Given the description of an element on the screen output the (x, y) to click on. 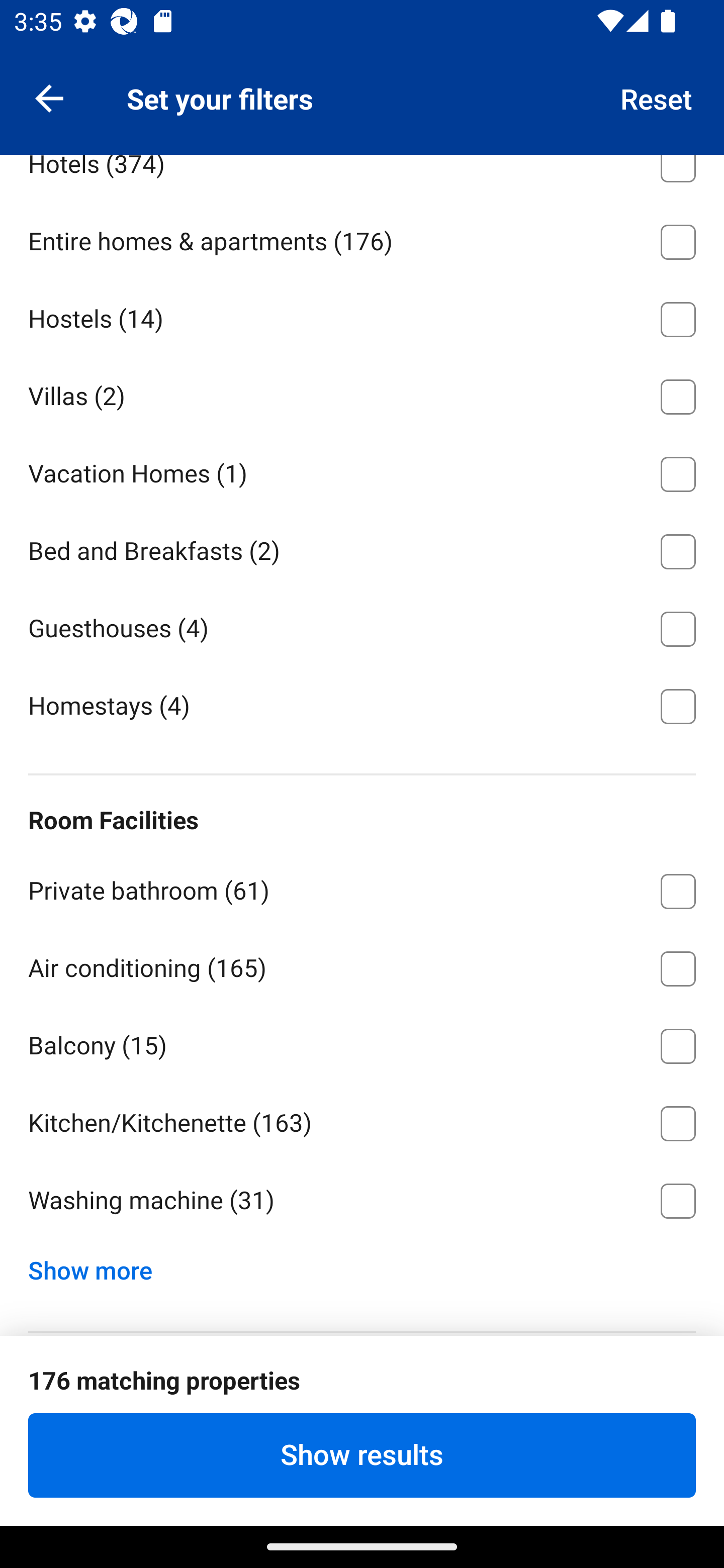
Apartments ⁦(175) (361, 83)
Navigate up (49, 97)
Reset (656, 97)
Hotels ⁦(374) (361, 177)
Entire homes & apartments ⁦(176) (361, 238)
Hostels ⁦(14) (361, 315)
Villas ⁦(2) (361, 393)
Vacation Homes ⁦(1) (361, 470)
Bed and Breakfasts ⁦(2) (361, 547)
Guesthouses ⁦(4) (361, 625)
Homestays ⁦(4) (361, 704)
Private bathroom ⁦(61) (361, 887)
Air conditioning ⁦(165) (361, 964)
Balcony ⁦(15) (361, 1042)
Kitchen/Kitchenette ⁦(163) (361, 1119)
Washing machine ⁦(31) (361, 1200)
Show more (97, 1266)
Show results (361, 1454)
